Given the description of an element on the screen output the (x, y) to click on. 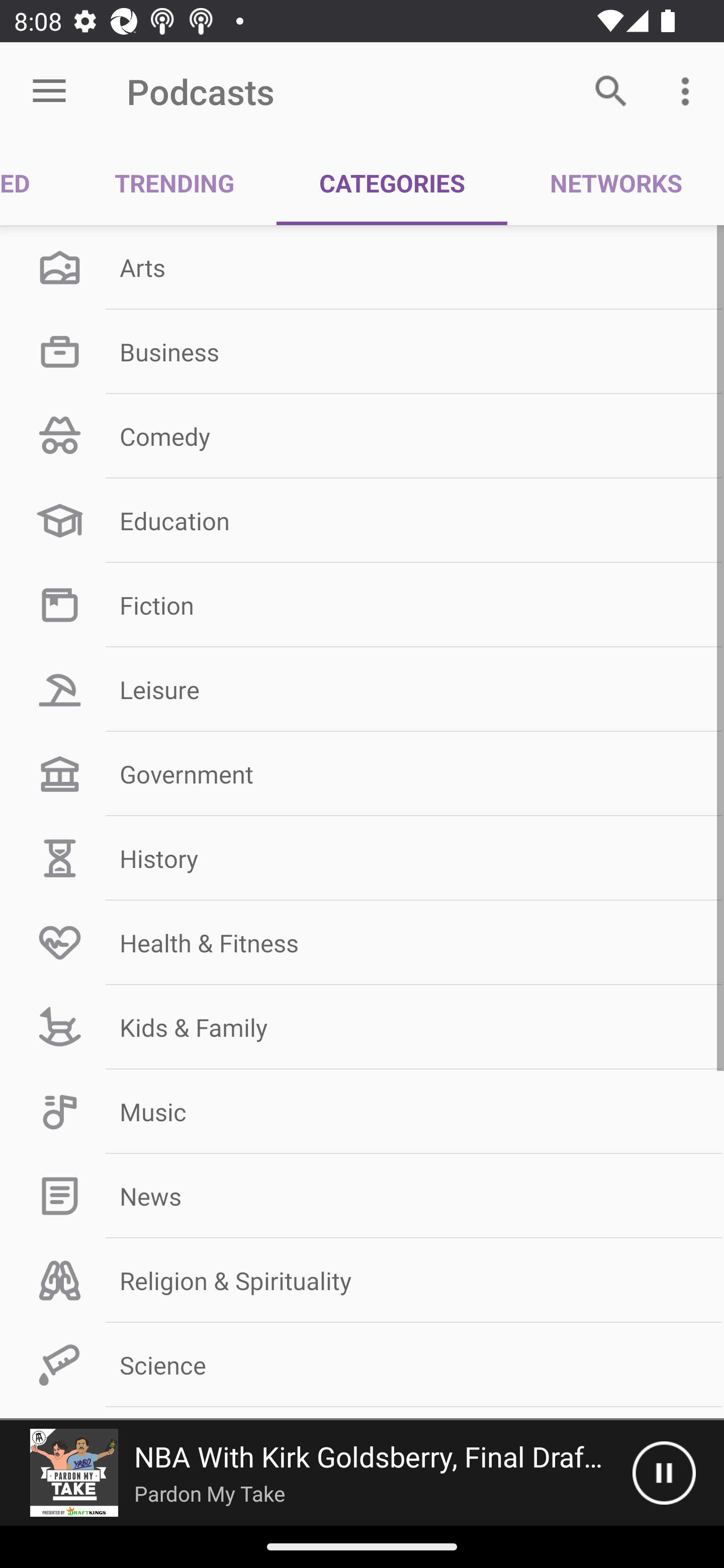
Open menu (49, 91)
Search (611, 90)
More options (688, 90)
TRENDING (174, 183)
CATEGORIES (391, 183)
NETWORKS (615, 183)
Arts (362, 266)
Business (362, 350)
Comedy (362, 435)
Education (362, 520)
Fiction (362, 604)
Leisure (362, 689)
Government (362, 774)
History (362, 858)
Health & Fitness (362, 942)
Kids & Family (362, 1026)
Music (362, 1111)
News (362, 1196)
Religion & Spirituality (362, 1280)
Science (362, 1364)
Pause (663, 1472)
